Given the description of an element on the screen output the (x, y) to click on. 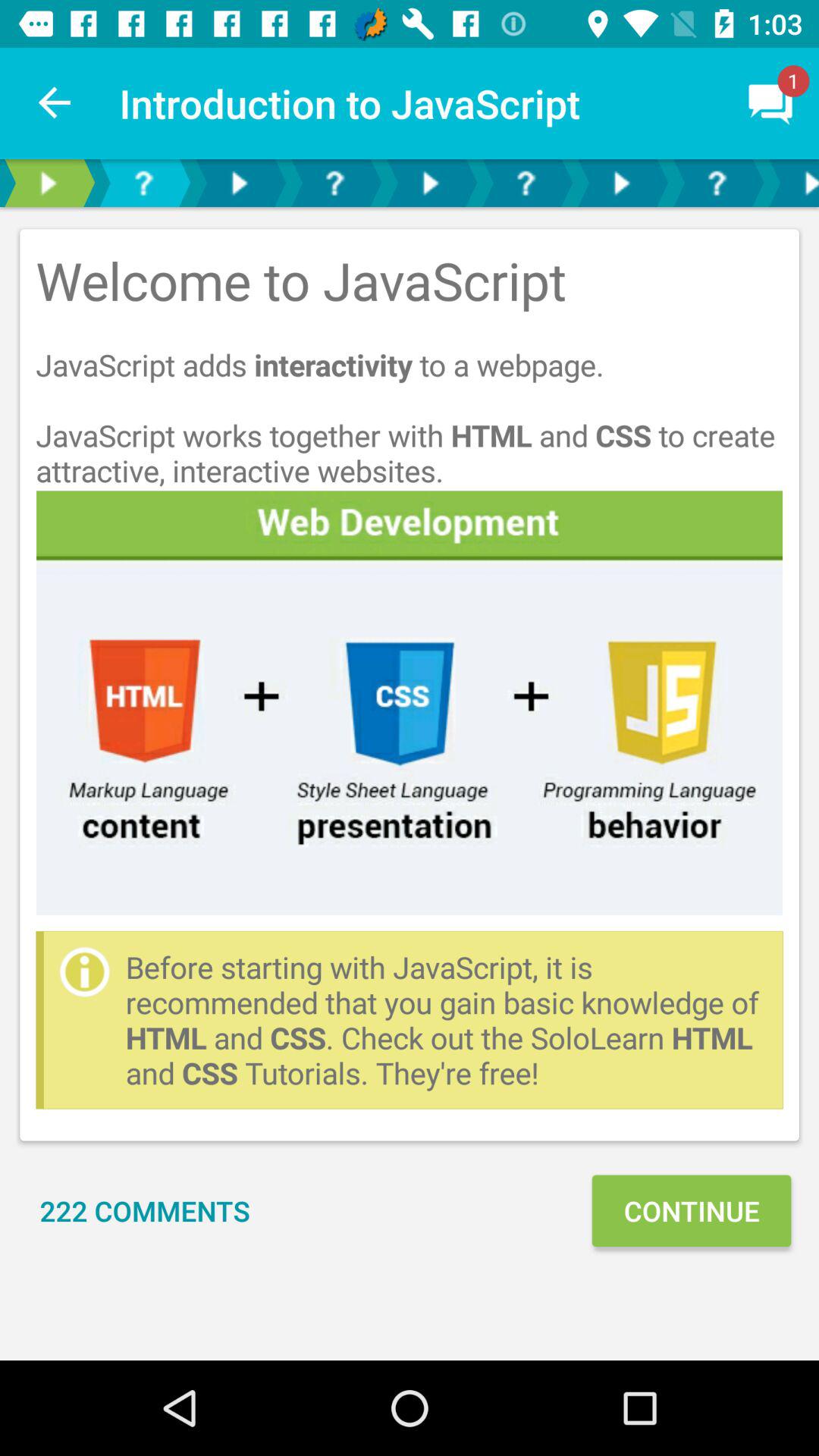
jump to the 222 comments item (144, 1210)
